Given the description of an element on the screen output the (x, y) to click on. 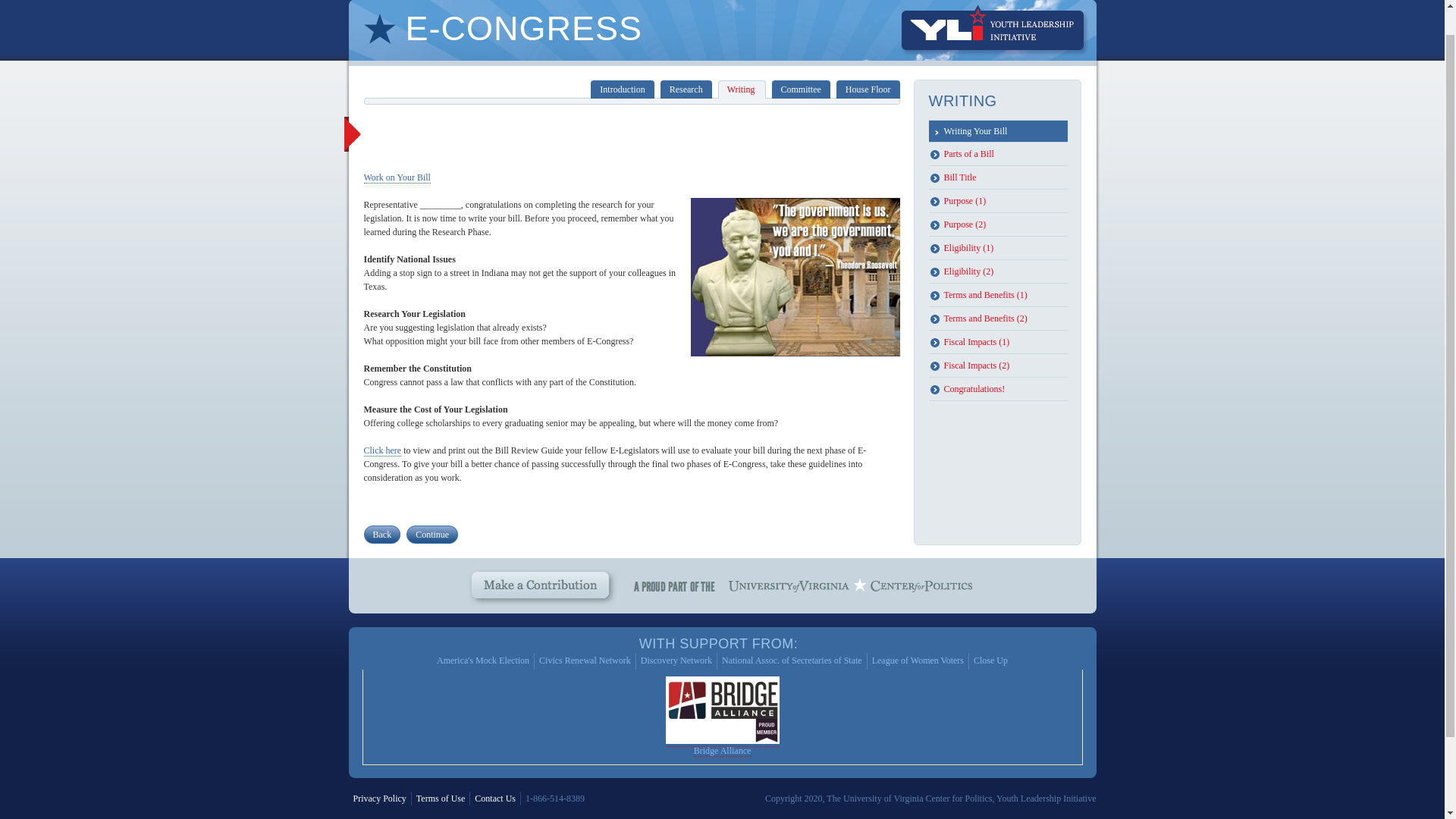
Bill Title (997, 177)
Contact Us (494, 798)
Committee (800, 89)
League of Women Voters (917, 660)
Center for Politics (921, 594)
Terms of Use (440, 798)
University of Virginia (788, 594)
Close Up (990, 660)
Privacy Policy (379, 798)
Terms of Use (440, 798)
Back (377, 534)
Introduction (622, 89)
Parts of a Bill (997, 154)
Research (686, 89)
Writing Your Bill (997, 131)
